Given the description of an element on the screen output the (x, y) to click on. 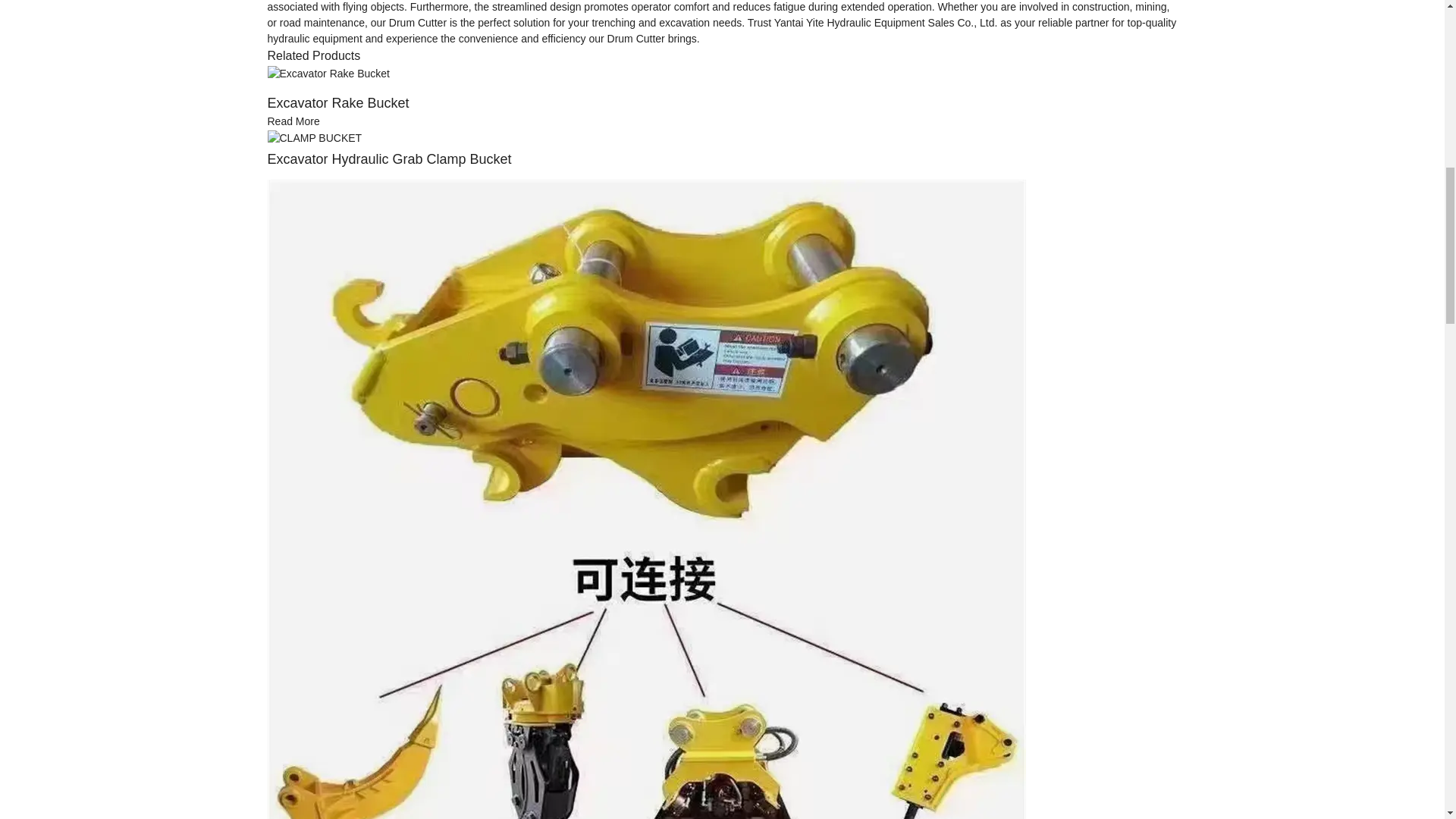
Other Customized Attachment Products (645, 557)
Excavator Hydraulic Grab Clamp Bucket (313, 137)
Excavator Hydraulic Grab Clamp Bucket (388, 159)
Excavator Rake Bucket (328, 72)
Excavator Rake Bucket (337, 102)
Excavator Rake Bucket (292, 121)
